Given the description of an element on the screen output the (x, y) to click on. 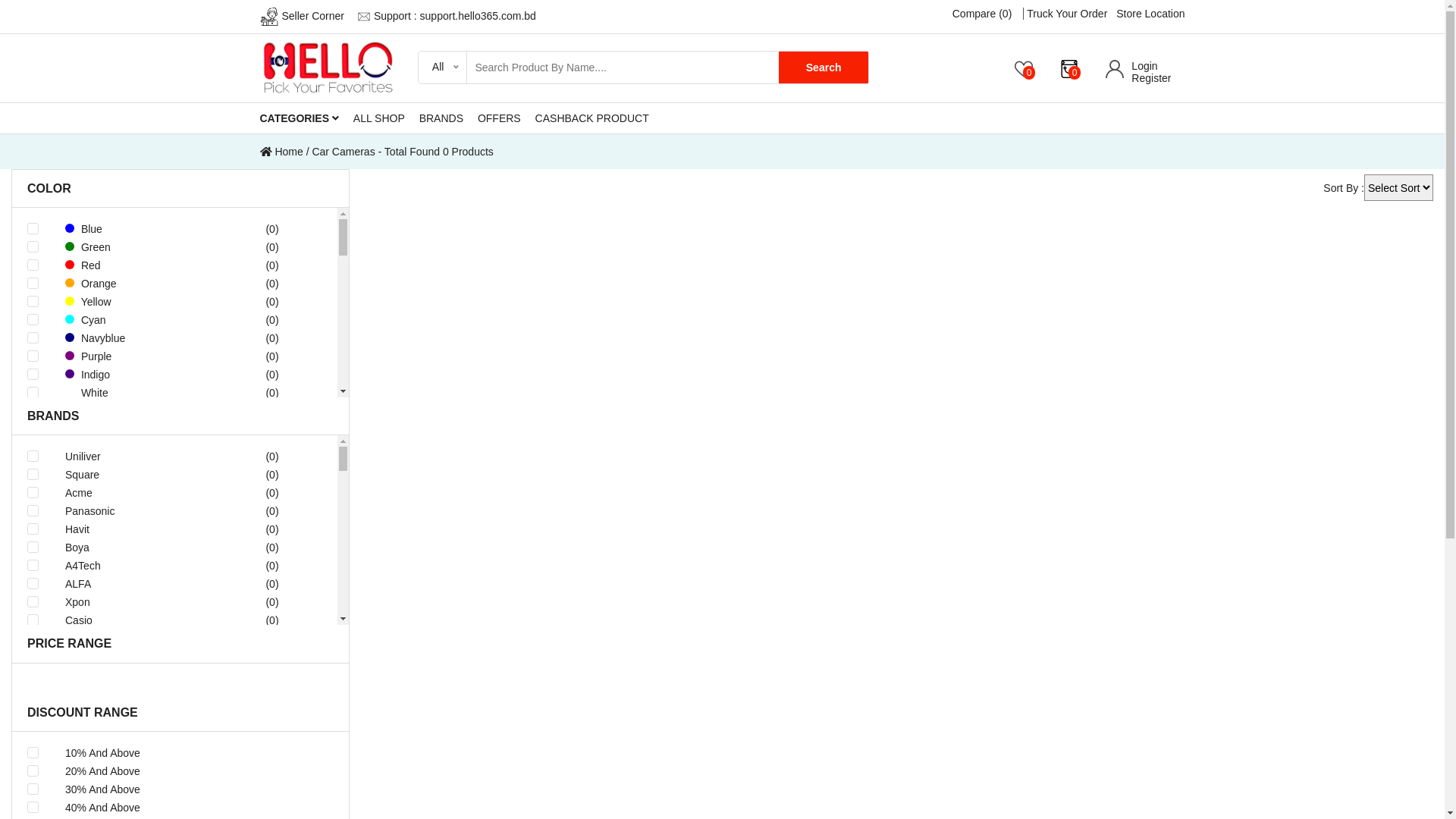
Tenda Element type: text (142, 656)
Orange Element type: text (134, 283)
Truck Your Order Element type: text (1066, 13)
30% And Above Element type: text (187, 789)
Compare (0) Element type: text (982, 13)
Maroon Element type: text (134, 501)
Indigo Element type: text (134, 374)
Lightpink Element type: text (134, 429)
Darkviolet Element type: text (134, 647)
Blue Element type: text (134, 228)
Acme Element type: text (142, 492)
Yellow Element type: text (134, 301)
Pink Element type: text (134, 410)
Walton Element type: text (142, 711)
Store Location Element type: text (1150, 13)
Midnightblue Element type: text (134, 683)
Deeppink Element type: text (134, 574)
Azure Element type: text (134, 538)
A4Tech Element type: text (142, 565)
Square Element type: text (142, 474)
Cyan Element type: text (134, 319)
Olive Element type: text (134, 720)
Maximus Element type: text (142, 802)
Blueviolet Element type: text (134, 611)
Gray Element type: text (134, 447)
Search Element type: text (822, 67)
Casio Element type: text (142, 620)
20% And Above Element type: text (187, 771)
Xpon Element type: text (142, 602)
Red Element type: text (134, 265)
ALFA Element type: text (142, 583)
CATEGORIES Element type: text (304, 118)
Seller Corner Element type: text (301, 15)
Havit Element type: text (142, 529)
Car Cameras Element type: text (342, 151)
Lime Element type: text (134, 756)
Olympic Element type: text (142, 729)
40% And Above Element type: text (187, 807)
CASHBACK PRODUCT Element type: text (597, 118)
Brown Element type: text (134, 483)
Canon Element type: text (142, 747)
Asus Element type: text (142, 638)
Navyblue Element type: text (134, 338)
Deepskyblue Element type: text (134, 702)
0 Element type: text (1069, 68)
Vision Element type: text (142, 784)
Panasonic Element type: text (142, 511)
Black Element type: text (134, 465)
Darkgreen Element type: text (134, 793)
10% And Above Element type: text (187, 752)
Uniliver Element type: text (142, 456)
Rapoo Element type: text (142, 674)
Home Element type: text (280, 151)
Hotpink Element type: text (134, 592)
BRANDS Element type: text (446, 118)
ALL SHOP Element type: text (384, 118)
Forestgreen Element type: text (134, 811)
White Element type: text (134, 392)
Support : support.hello365.com.bd Element type: text (446, 15)
Login
Register Element type: text (1137, 71)
0 Element type: text (1023, 68)
Singer Element type: text (142, 693)
OFFERS Element type: text (504, 118)
Boya Element type: text (142, 547)
Limegreen Element type: text (134, 774)
Green Element type: text (134, 247)
Symphony Element type: text (142, 765)
Darkmagenta Element type: text (134, 665)
Magenta Element type: text (134, 629)
Antiquewhite Element type: text (134, 556)
Purple Element type: text (134, 356)
Silver Element type: text (134, 520)
Seagreen Element type: text (134, 738)
